Given the description of an element on the screen output the (x, y) to click on. 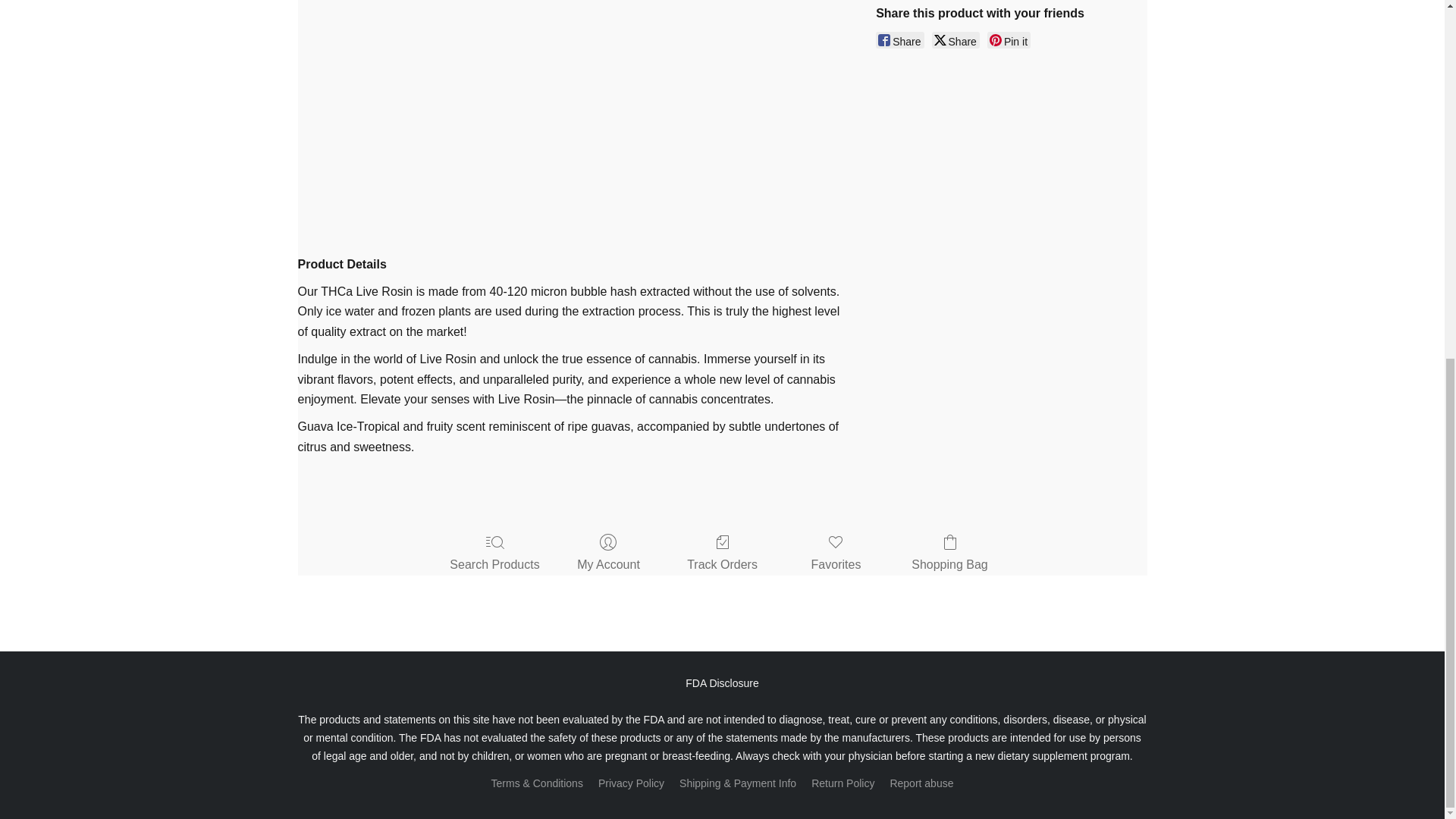
Privacy Policy (630, 782)
Shopping Bag (949, 553)
My Account (608, 553)
Search Products (494, 553)
Share (899, 39)
Track Orders (722, 553)
Favorites (836, 553)
Share (955, 39)
Pin it (1008, 39)
